Given the description of an element on the screen output the (x, y) to click on. 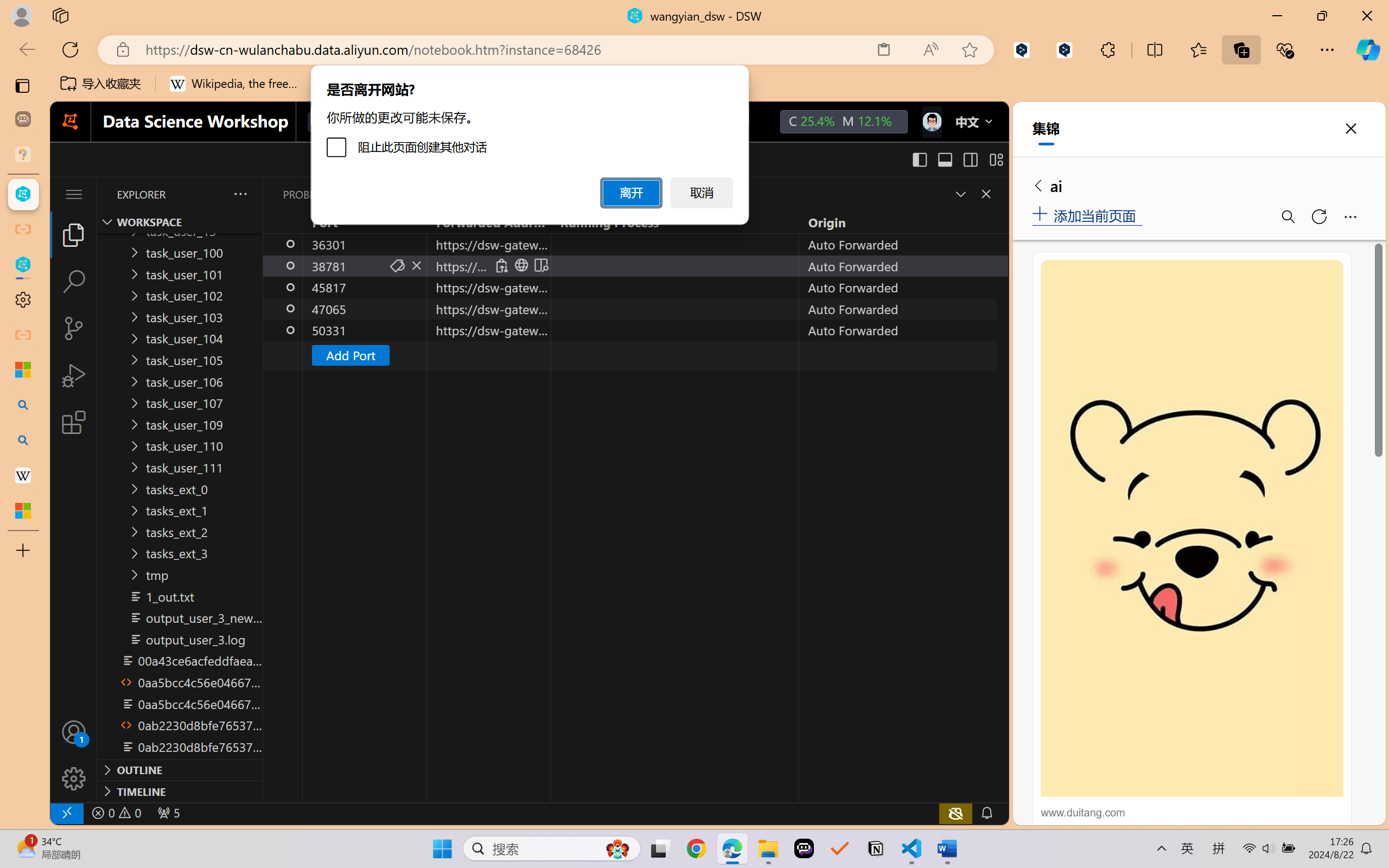
Restore Panel Size (959, 193)
Microsoft security help and learning (22, 369)
wangyian_webcrawler - DSW (22, 264)
Accounts - Sign in requested (73, 732)
